Given the description of an element on the screen output the (x, y) to click on. 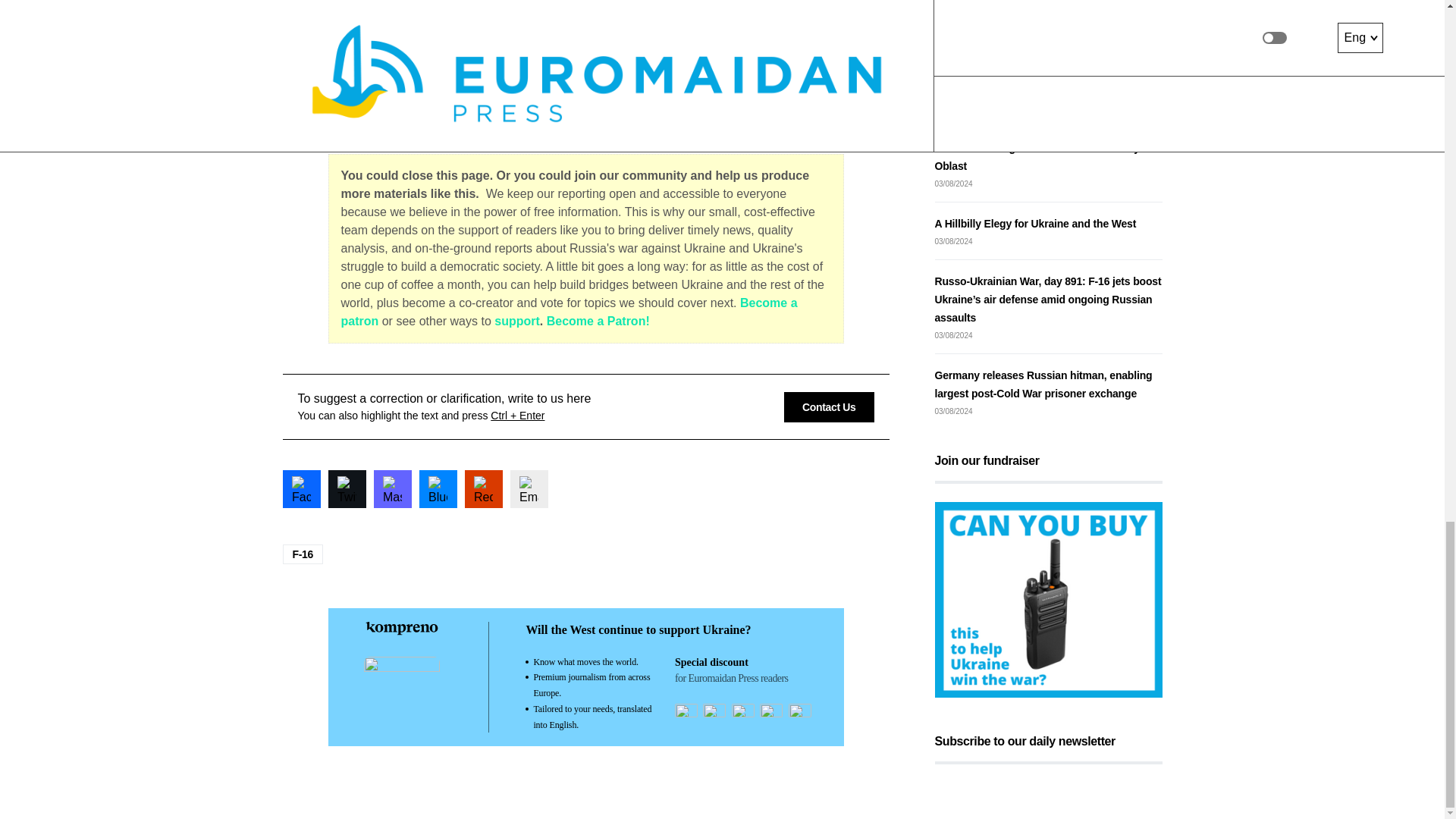
Share to Reddit (483, 488)
Share to Bluesky (438, 488)
Share to Email (528, 488)
Share to Twitter (346, 488)
Share to Facebook (301, 488)
Share to Mastodon (391, 488)
